Given the description of an element on the screen output the (x, y) to click on. 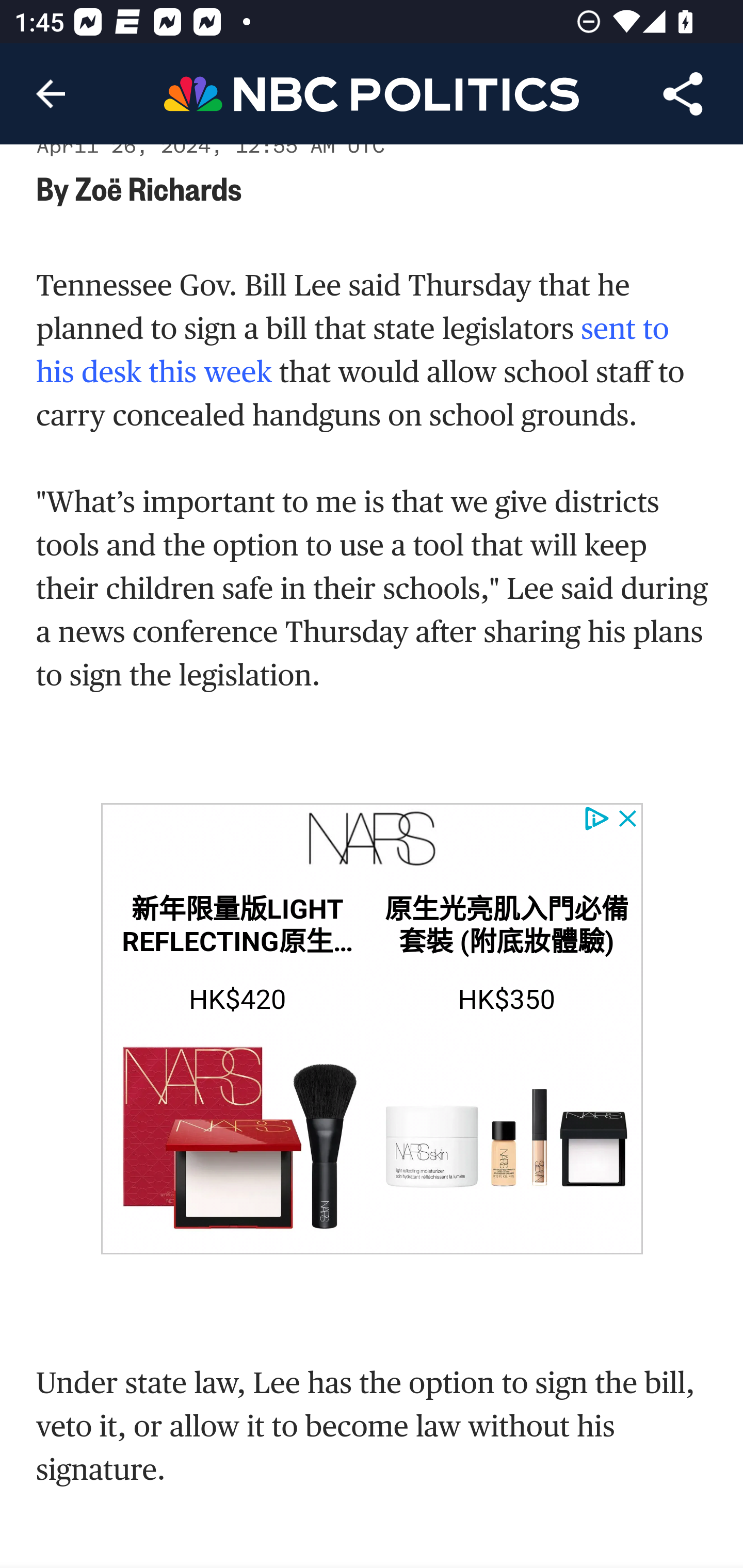
Navigate up (50, 93)
Share Article, button (683, 94)
Header, NBC Politics (371, 93)
Zoë Richards (157, 188)
sent to his desk this week (352, 350)
   (371, 841)
privacy_small (595, 819)
close_button (627, 819)
